Given the description of an element on the screen output the (x, y) to click on. 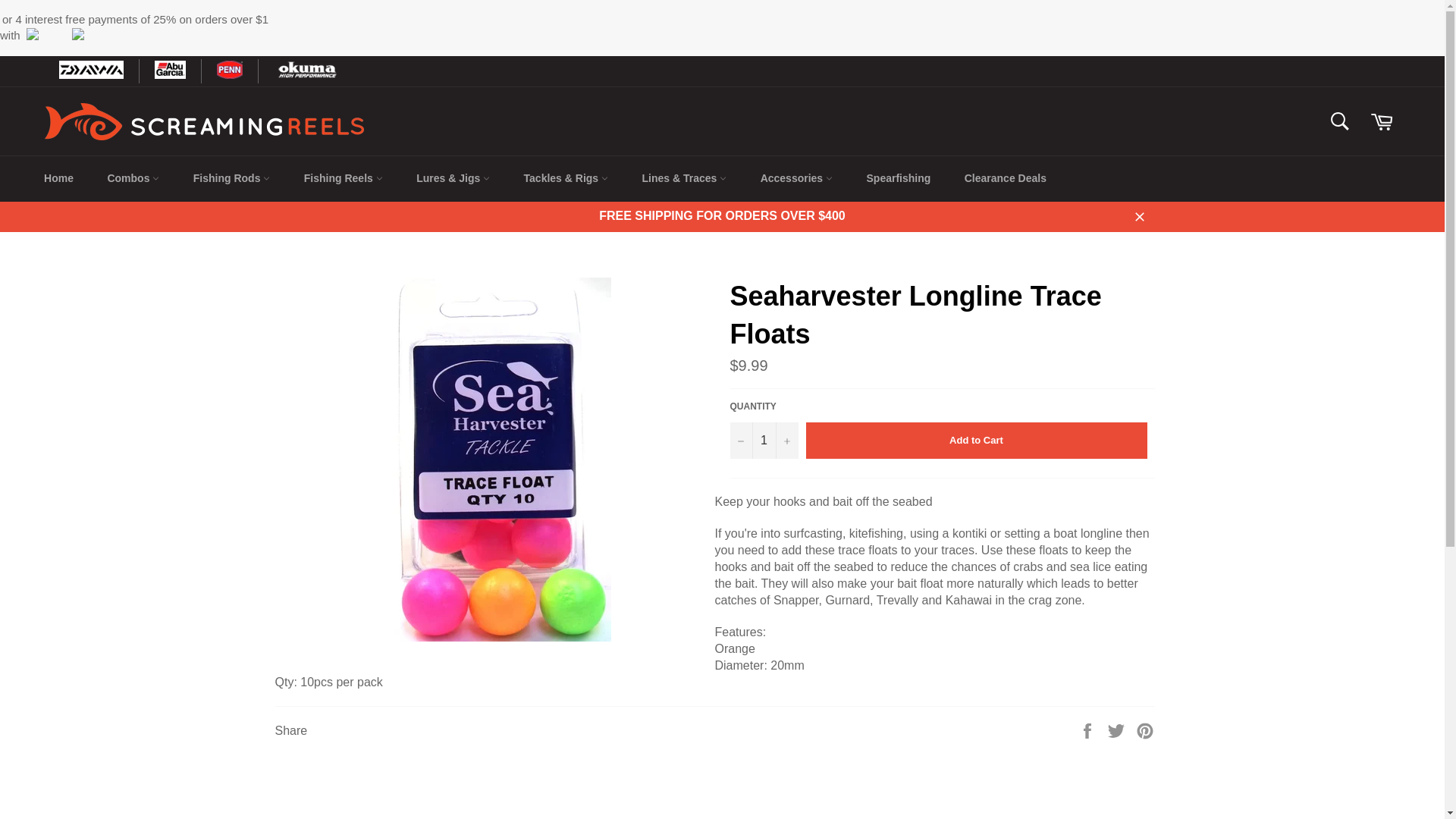
Share on Facebook (1088, 730)
Pin on Pinterest (1144, 730)
Tweet on Twitter (1117, 730)
1 (763, 440)
